Given the description of an element on the screen output the (x, y) to click on. 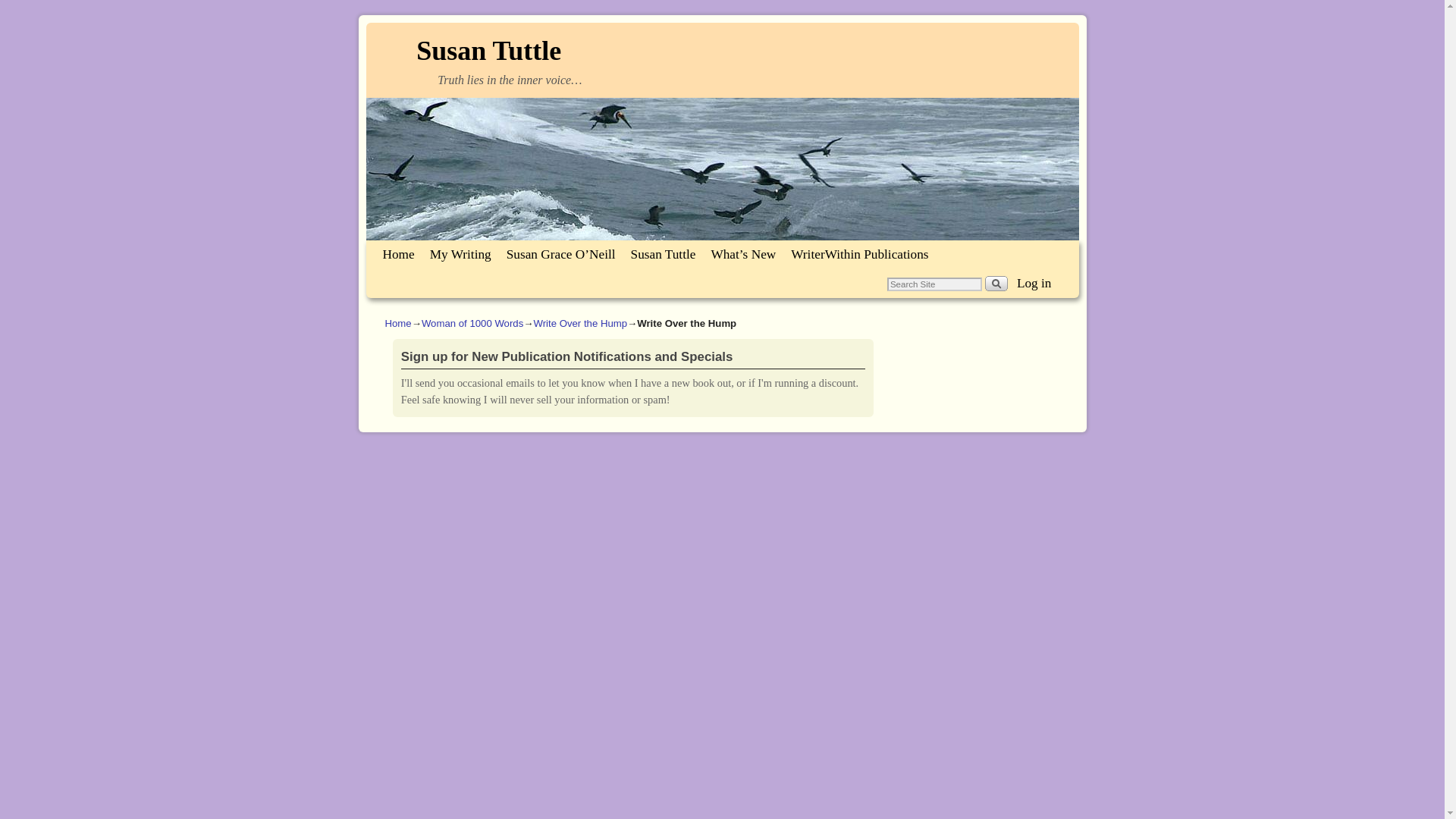
Susan Tuttle (663, 254)
Home (398, 254)
Log in (1034, 283)
Home (398, 323)
Skip to primary content (411, 246)
Susan Tuttle (488, 51)
WriterWithin Publications (859, 254)
Write Over the Hump (579, 323)
Skip to secondary content (415, 246)
Woman of 1000 Words (472, 323)
